Given the description of an element on the screen output the (x, y) to click on. 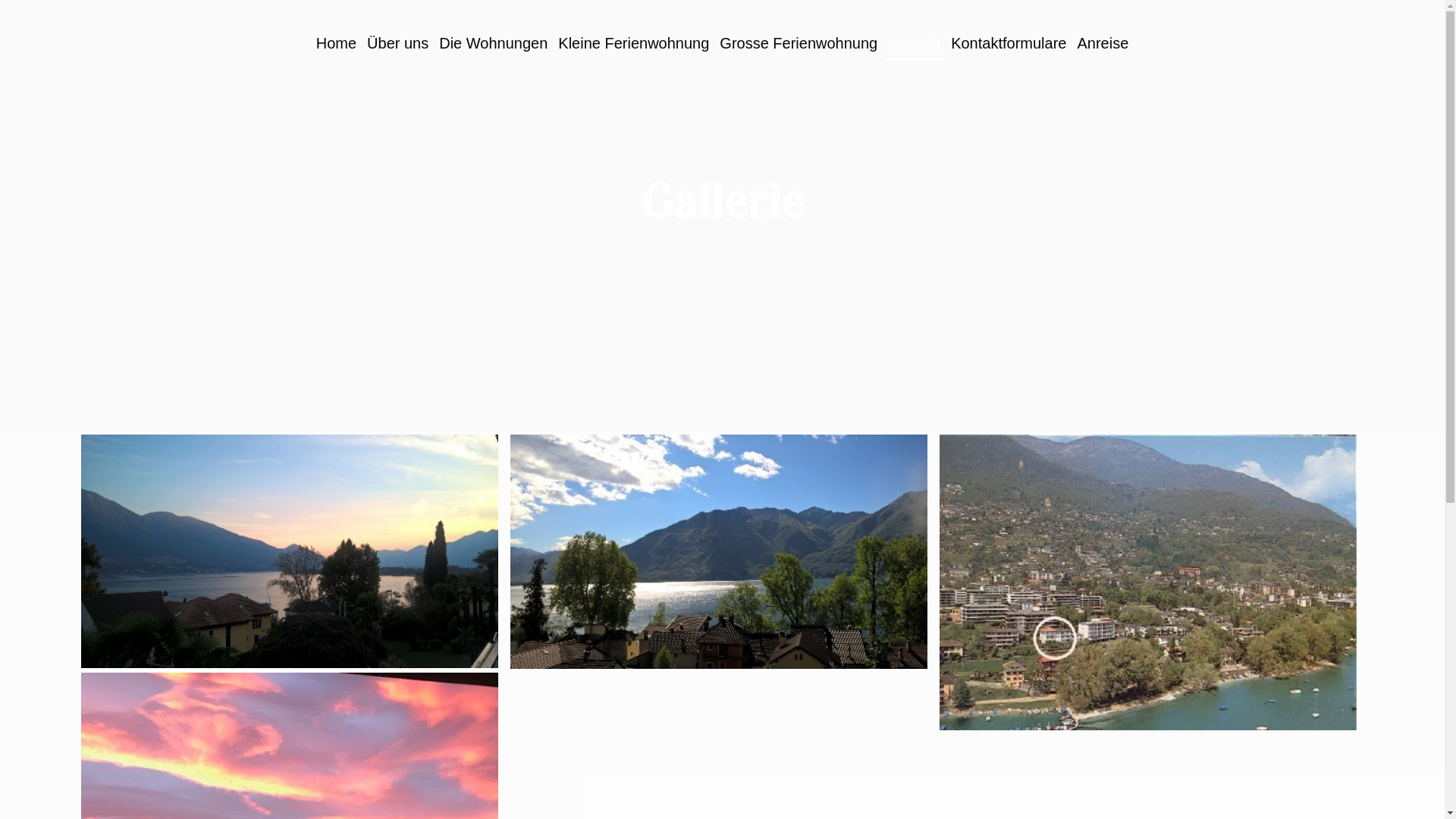
Kontaktformulare Element type: text (1008, 43)
Gallerie Element type: text (914, 43)
Anreise Element type: text (1102, 43)
Home Element type: text (336, 43)
Die Wohnungen Element type: text (493, 43)
Grosse Ferienwohnung Element type: text (798, 43)
Kleine Ferienwohnung Element type: text (633, 43)
